Given the description of an element on the screen output the (x, y) to click on. 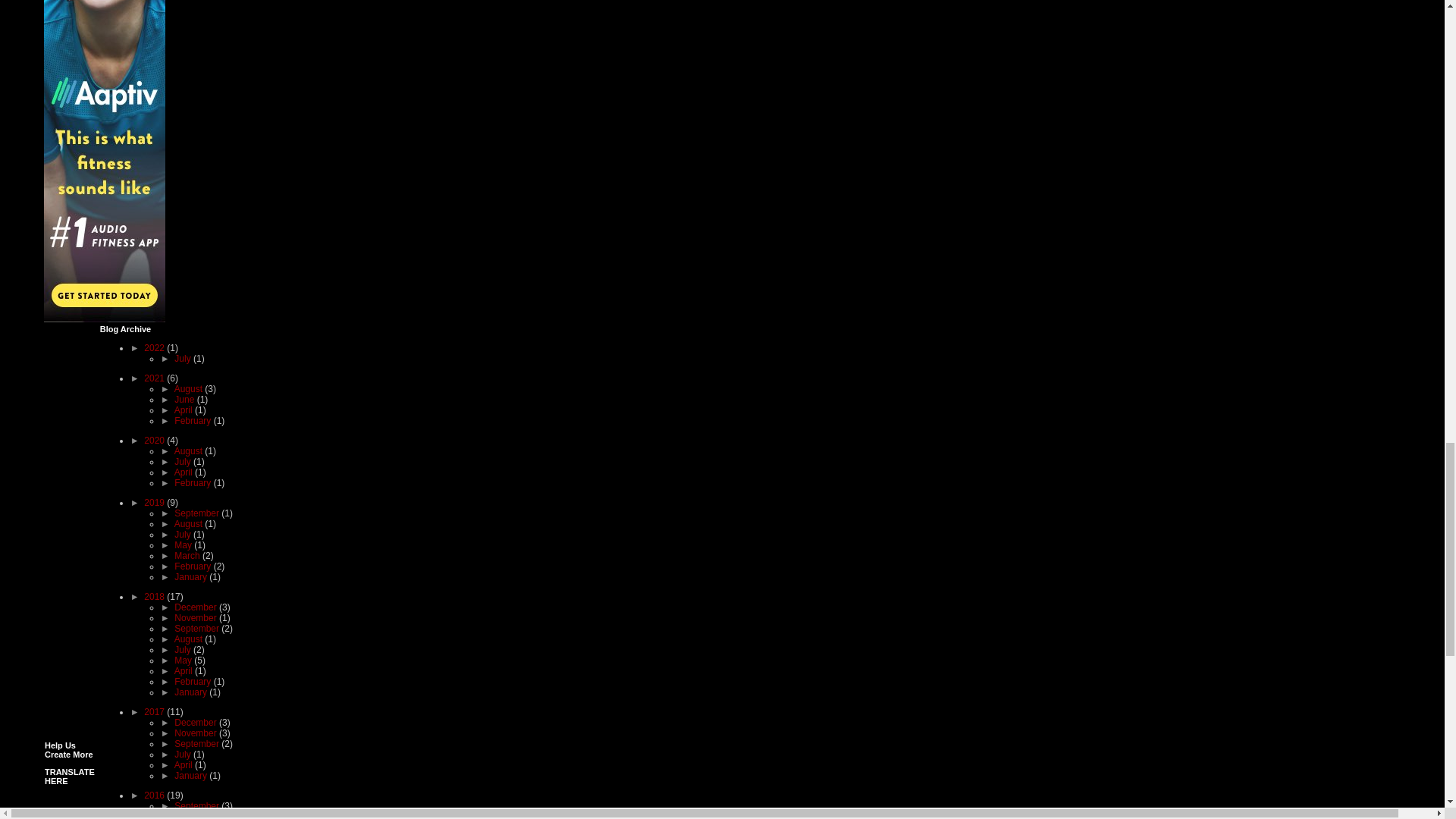
August (189, 388)
2022 (155, 347)
June (185, 398)
2021 (155, 378)
2020 (155, 439)
February (193, 420)
July (183, 357)
April (184, 409)
